Given the description of an element on the screen output the (x, y) to click on. 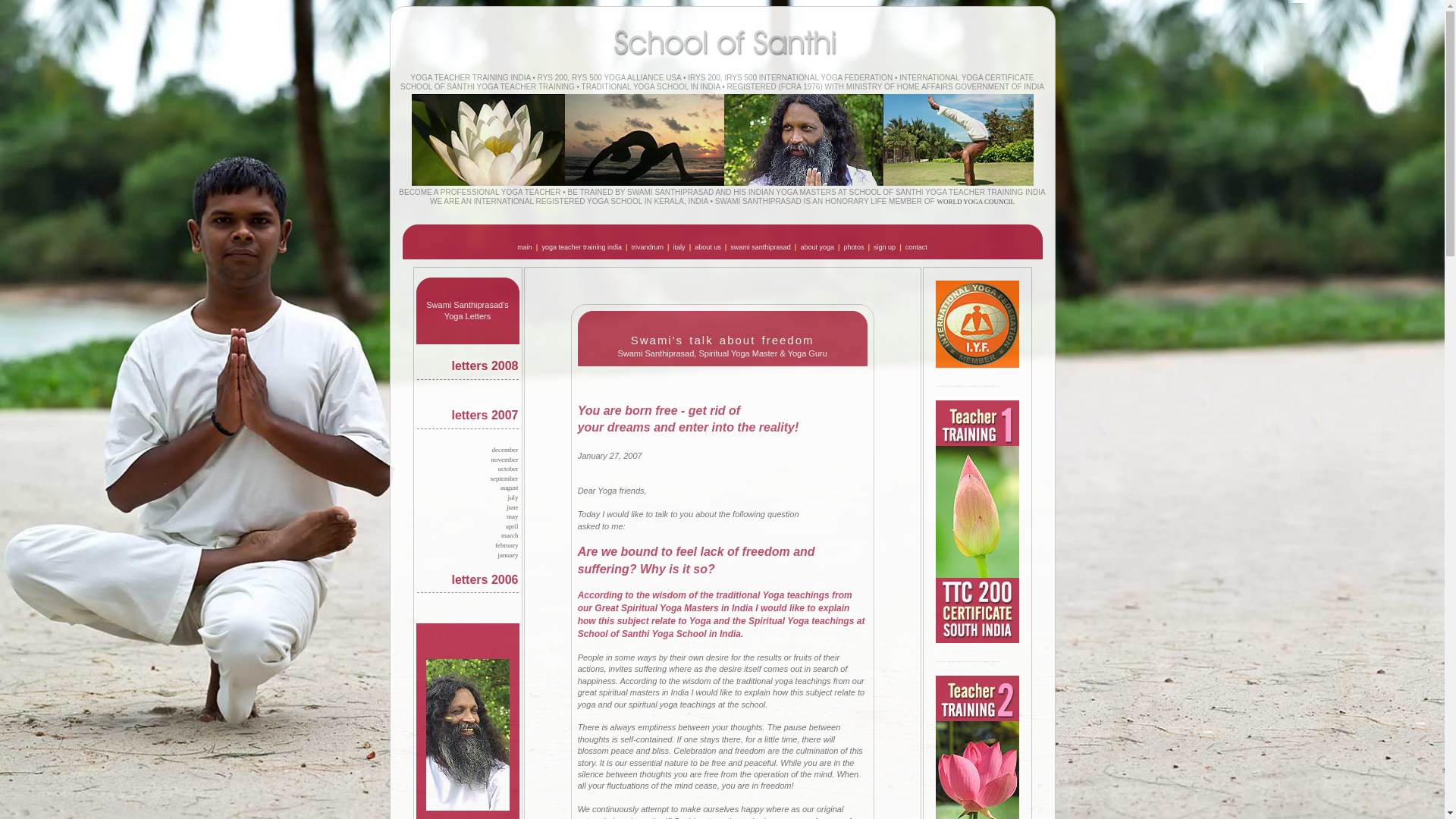
 about us  (708, 246)
may (512, 516)
 swami santhiprasad  (761, 246)
november (505, 459)
WORLD YOGA COUNCIL (975, 201)
main  (525, 246)
 photos  (853, 246)
february (506, 544)
july (512, 497)
october (507, 468)
january (507, 554)
march (509, 534)
april (511, 525)
june (512, 507)
 sign up  (885, 246)
